Given the description of an element on the screen output the (x, y) to click on. 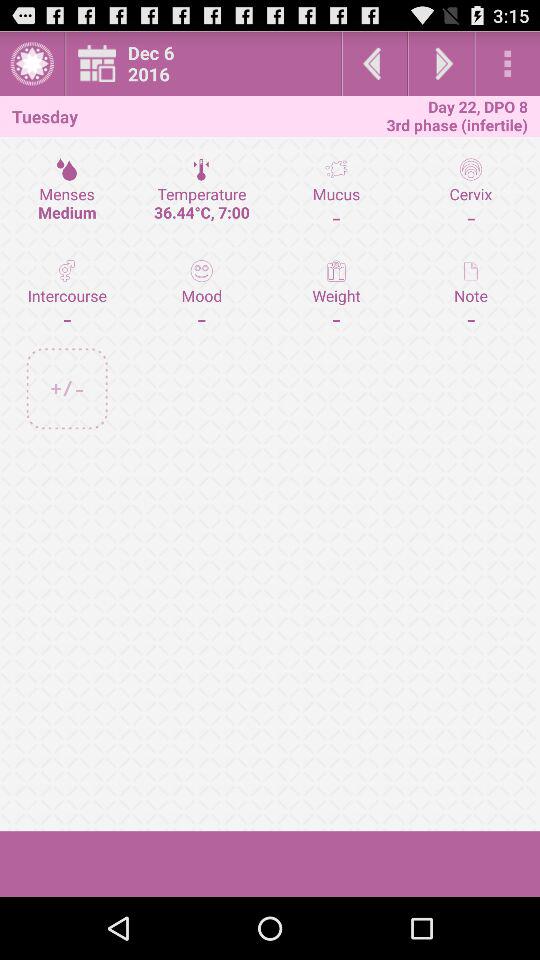
go forward one day (441, 63)
